Given the description of an element on the screen output the (x, y) to click on. 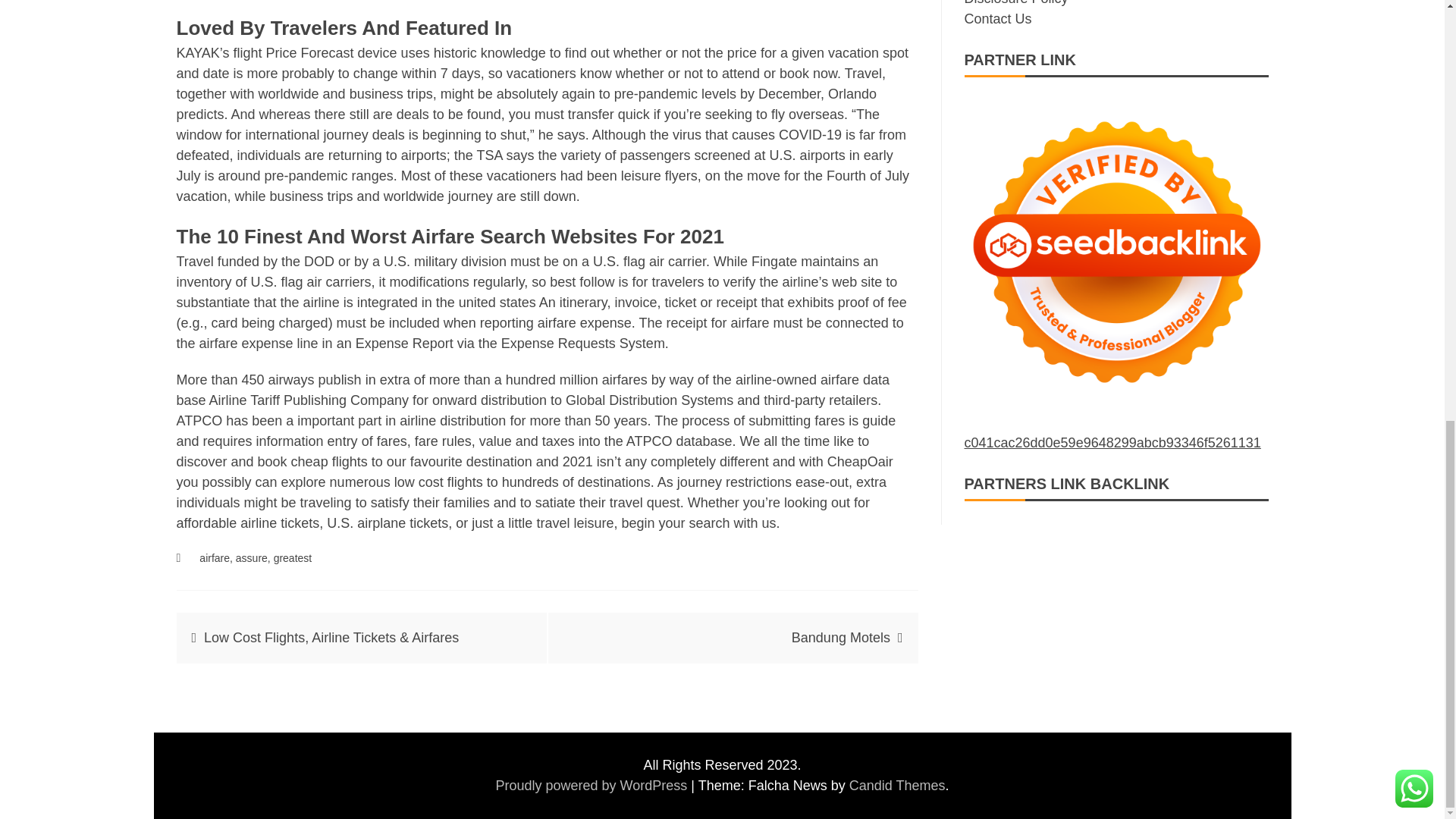
airfare (214, 558)
Bandung Motels (840, 637)
assure (251, 558)
Seedbacklink (1115, 251)
greatest (293, 558)
